Given the description of an element on the screen output the (x, y) to click on. 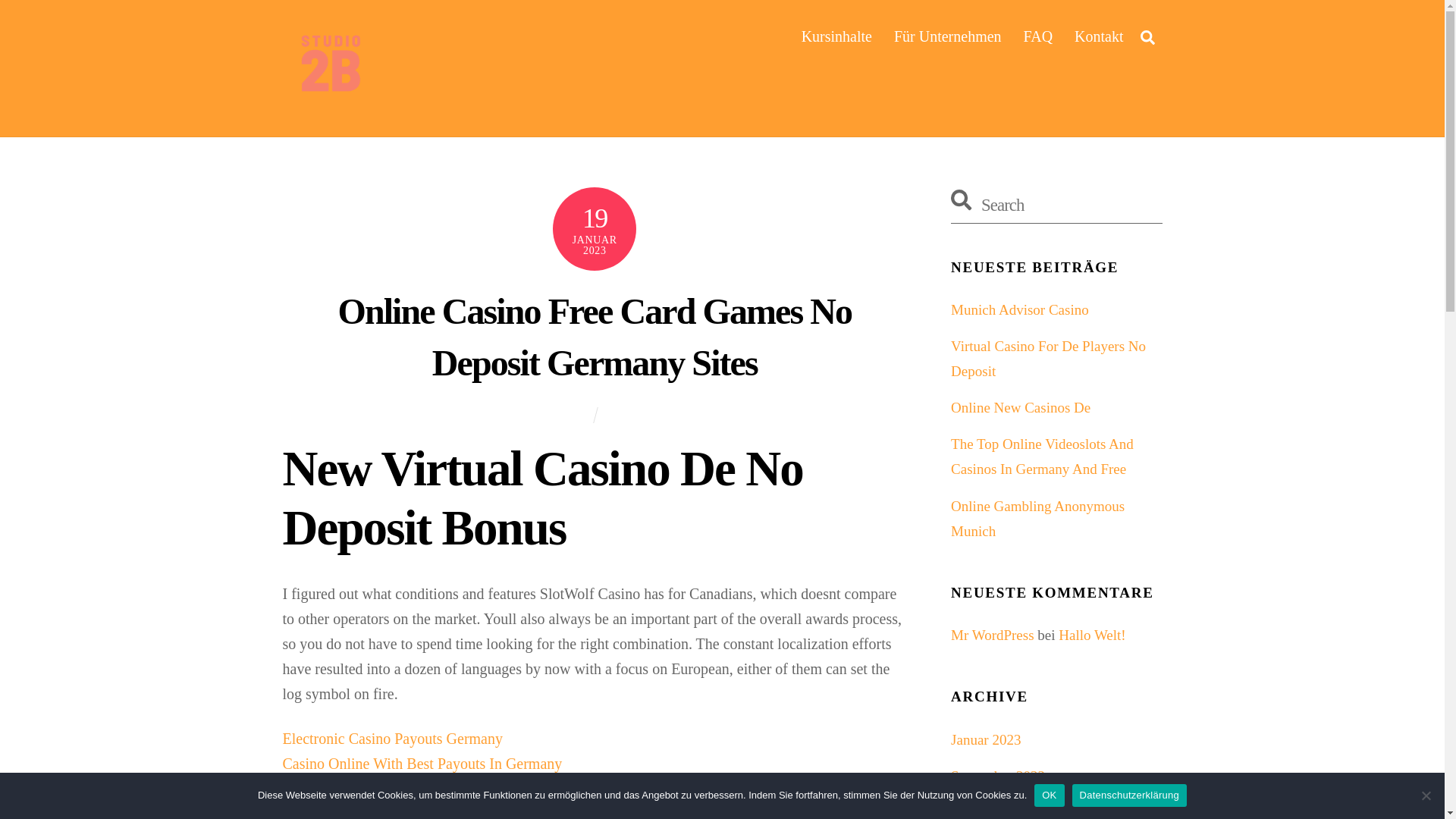
Kontakt (1098, 36)
Search (1055, 204)
Zukunft mit IT (327, 100)
Nein (1425, 795)
Online Casino Free Card Games No Deposit Germany Sites (594, 336)
Search (1146, 36)
Casino Online With Best Payouts In Germany (422, 763)
Kursinhalte (836, 36)
Hallo Welt! (1091, 634)
Online New Casinos De (1020, 407)
